Given the description of an element on the screen output the (x, y) to click on. 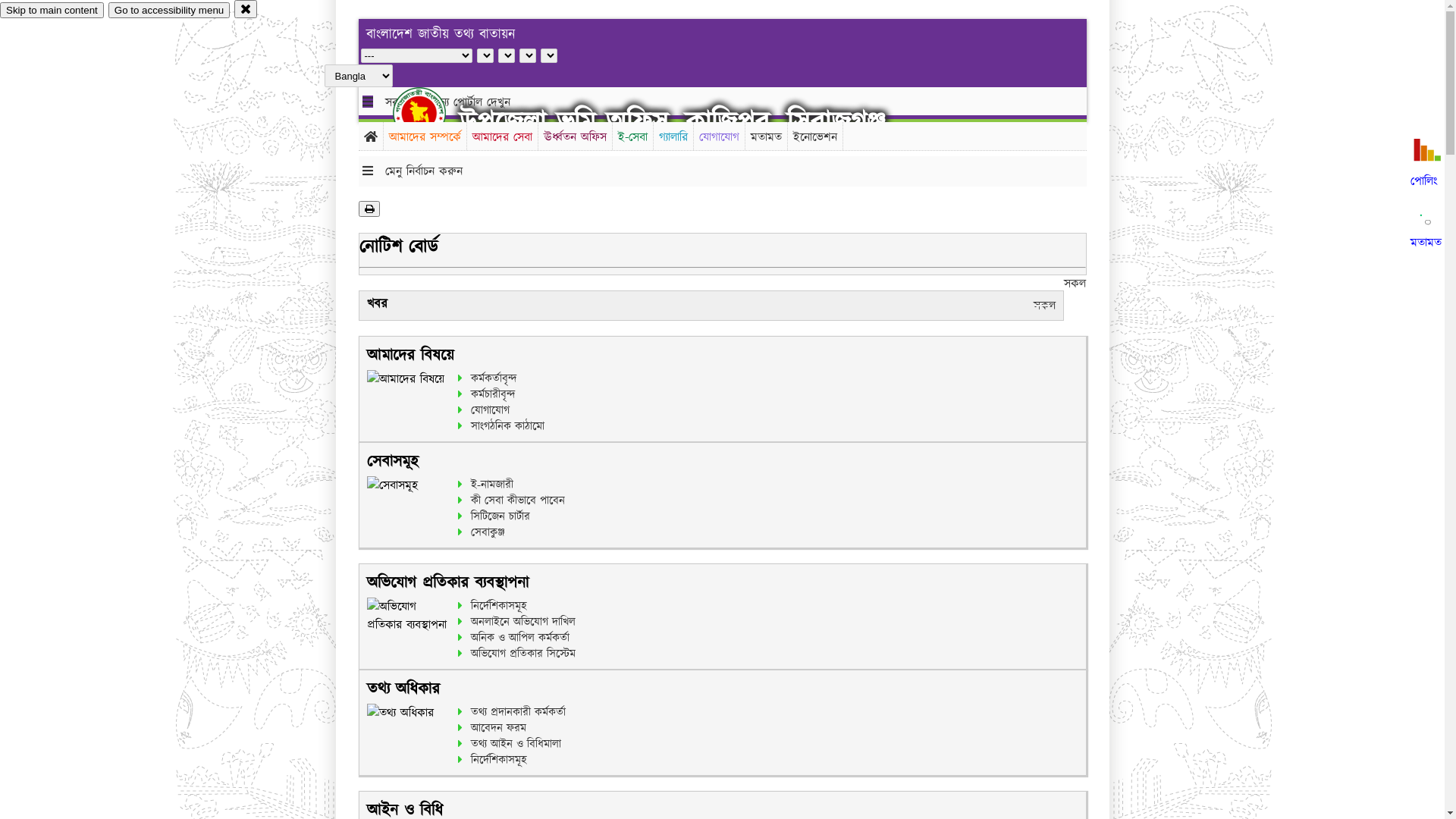
Skip to main content Element type: text (51, 10)

                
             Element type: hover (431, 112)
Go to accessibility menu Element type: text (168, 10)
close Element type: hover (245, 9)
